Given the description of an element on the screen output the (x, y) to click on. 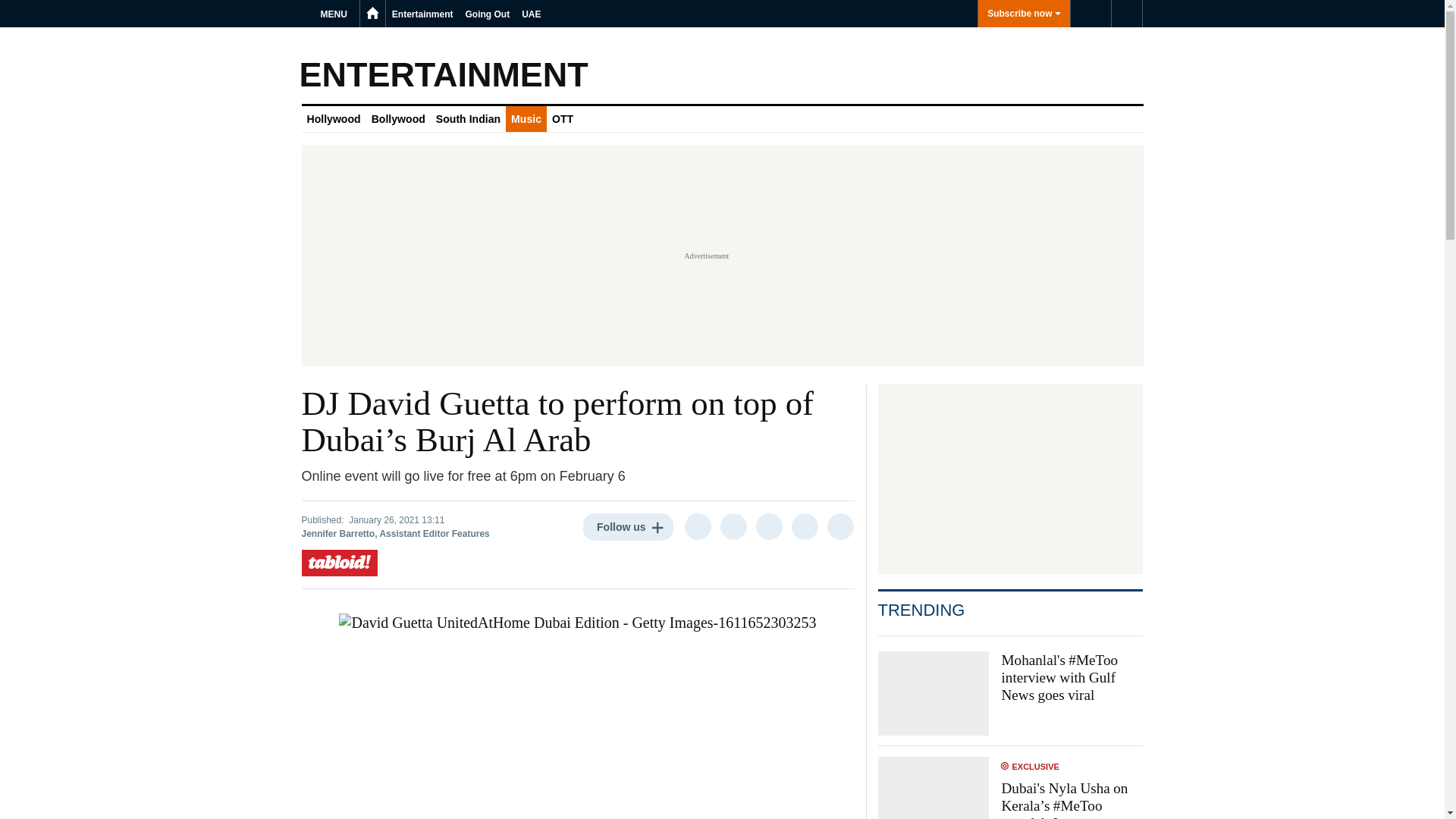
Going Out (488, 13)
UAE (531, 13)
MENU (336, 13)
Subscribe now (1024, 13)
Entertainment (422, 13)
